Given the description of an element on the screen output the (x, y) to click on. 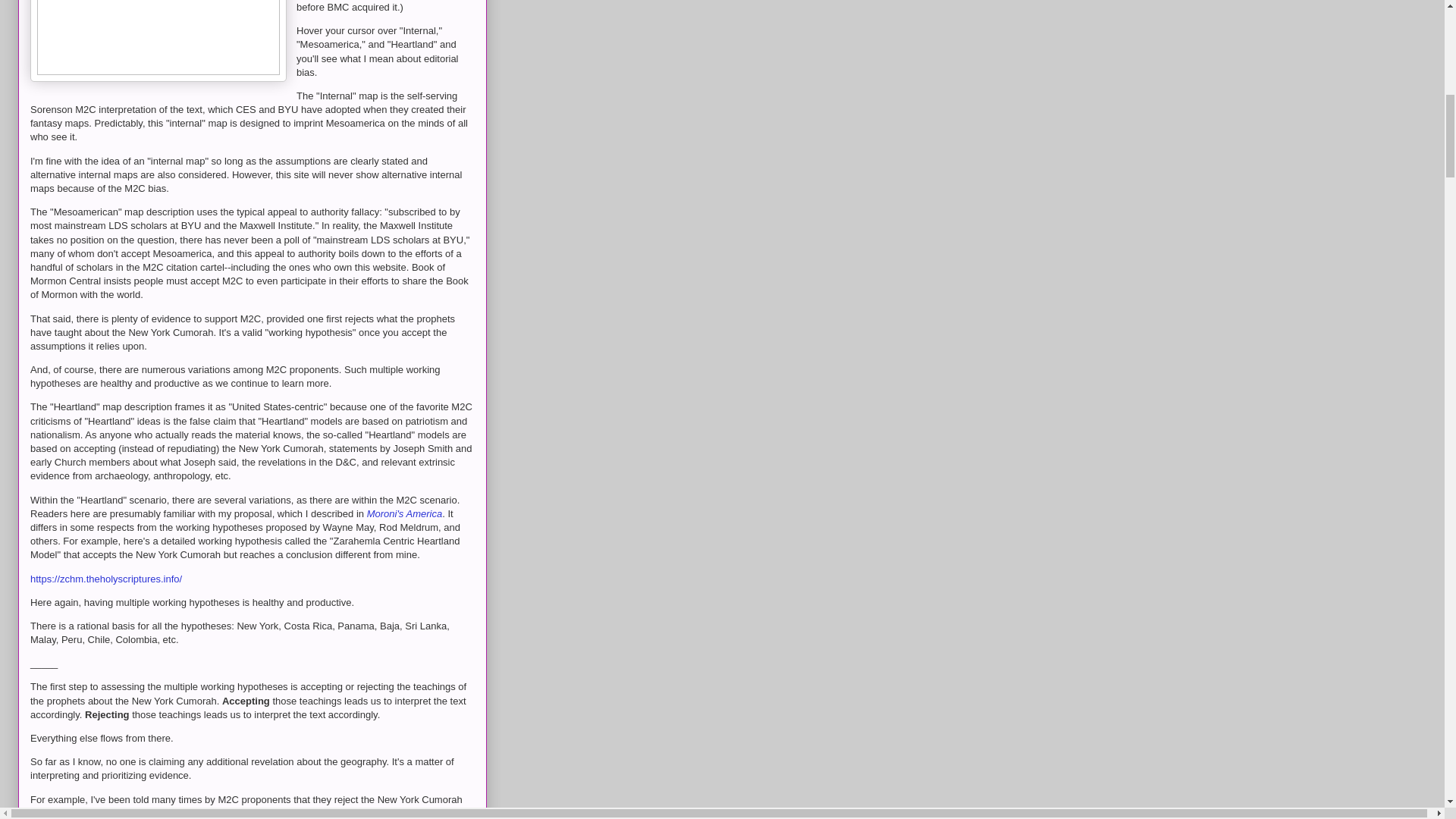
Moroni's America (404, 513)
